Given the description of an element on the screen output the (x, y) to click on. 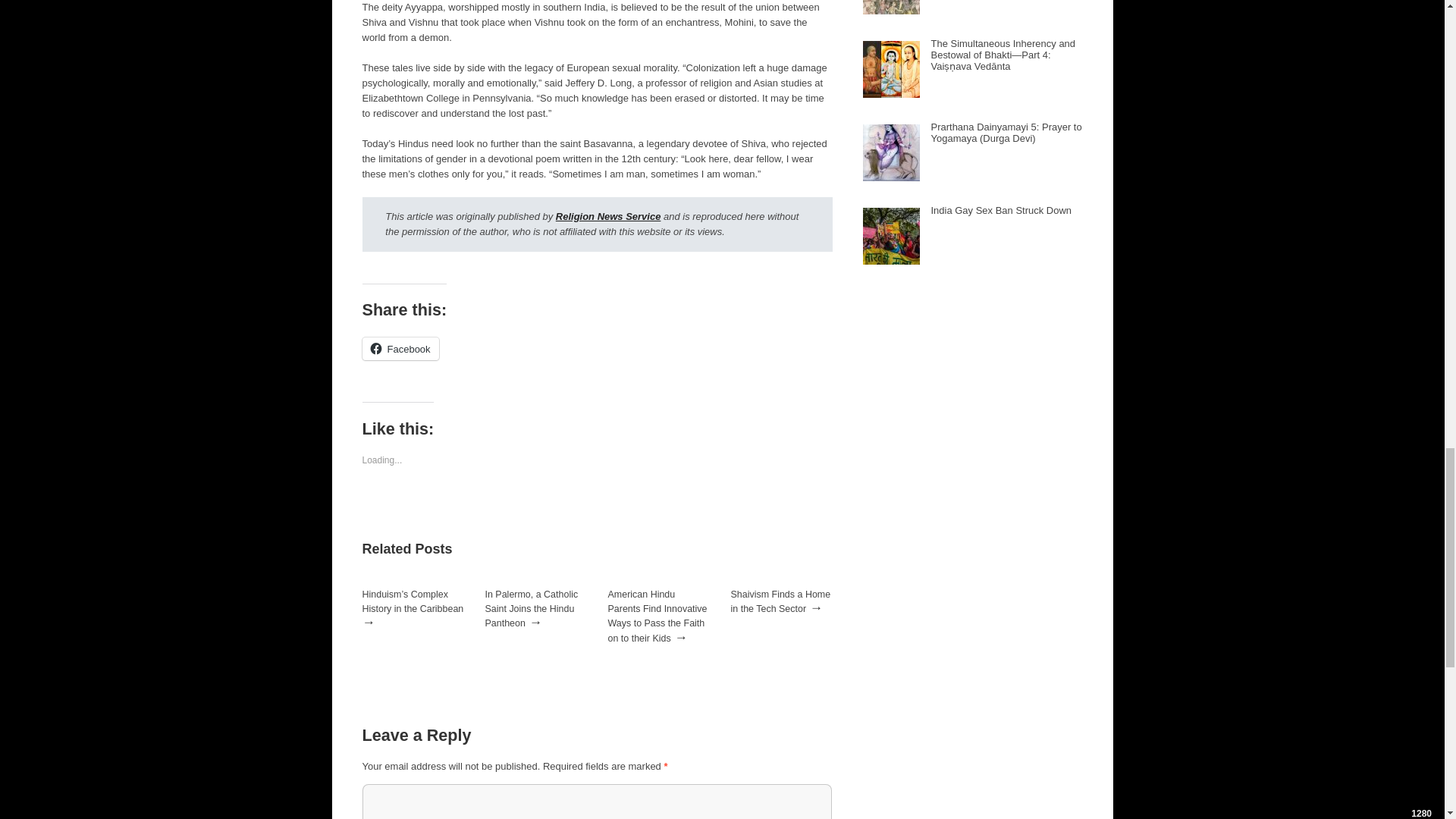
Shaivism Finds a Home in the Tech Sector (780, 601)
Religion News Service (608, 215)
In Palermo, a Catholic Saint Joins the Hindu Pantheon (531, 608)
Shaivism Finds a Home in the Tech Sector (780, 601)
Facebook (400, 348)
In Palermo, a Catholic Saint Joins the Hindu Pantheon (531, 608)
